Given the description of an element on the screen output the (x, y) to click on. 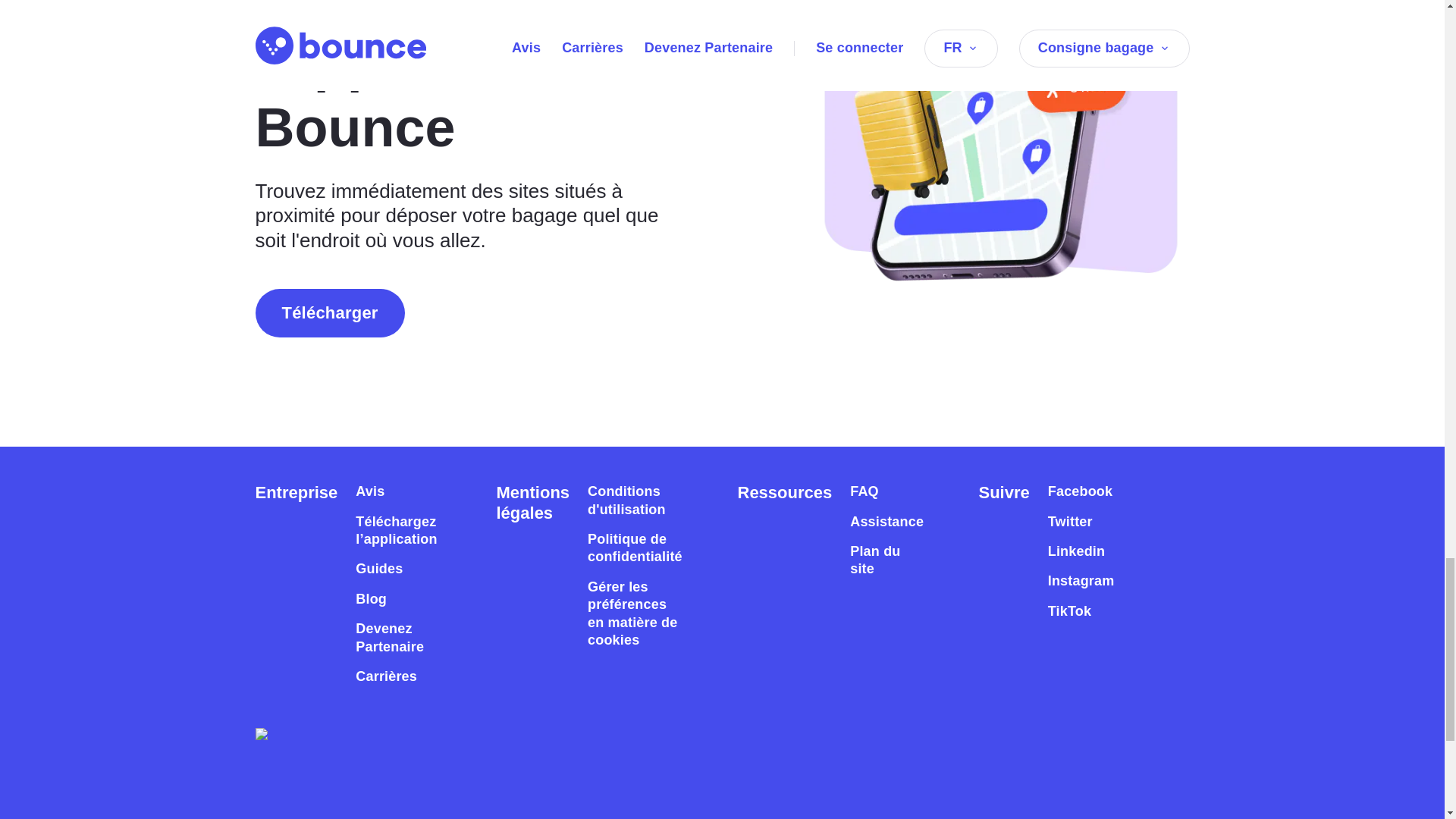
FAQ (864, 491)
Linkedin (1076, 551)
Assistance (886, 521)
Plan du site (886, 560)
Conditions d'utilisation (635, 500)
Facebook (1080, 491)
Twitter (1070, 521)
Avis (369, 491)
Blog (371, 599)
Guides (379, 569)
